Given the description of an element on the screen output the (x, y) to click on. 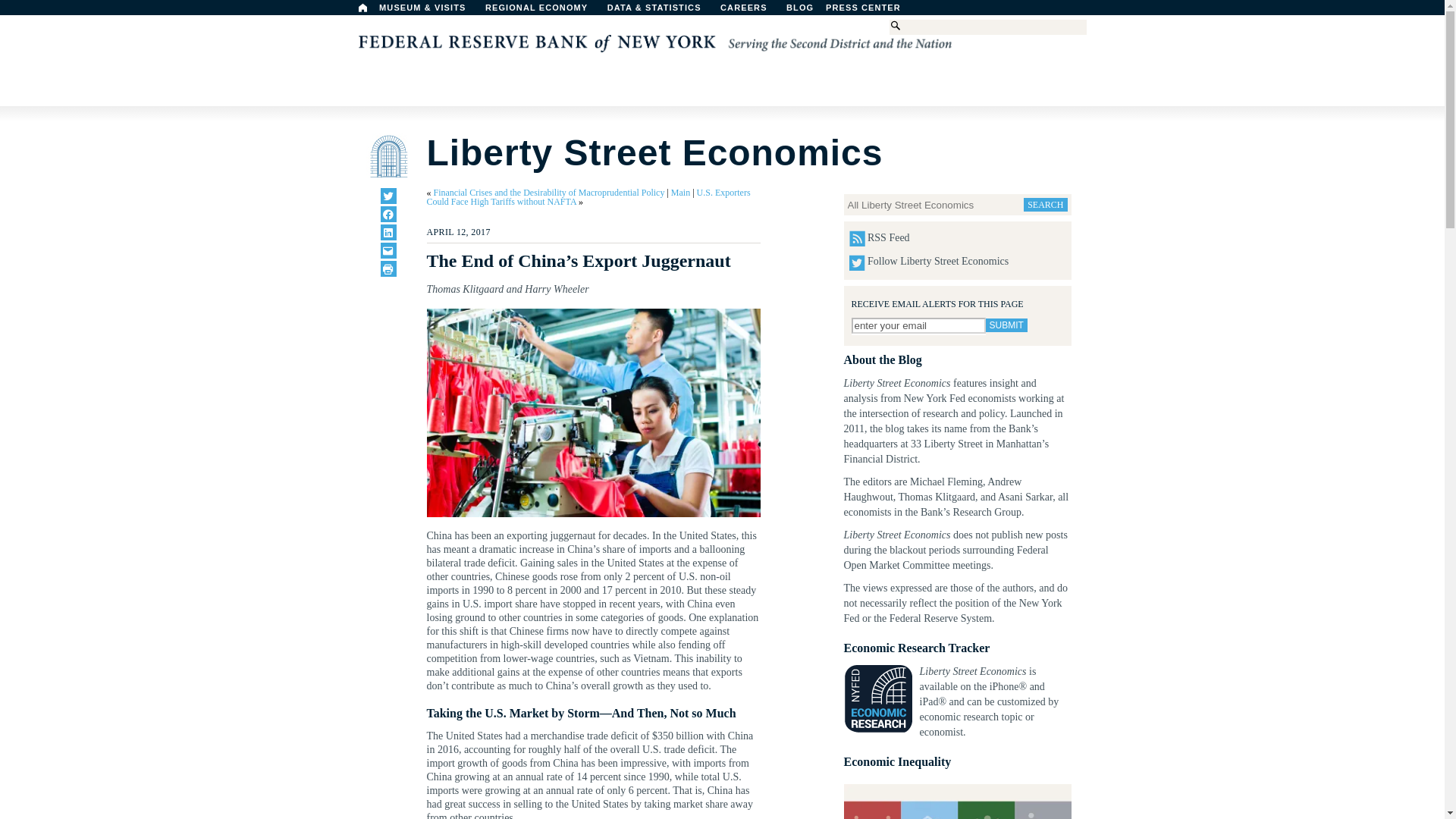
REGIONAL ECONOMY (543, 11)
Click to email a link to a friend (388, 250)
Submit (1006, 325)
Click to share on Twitter (388, 195)
Home (362, 8)
enter your email (917, 325)
PRESS CENTER (870, 11)
Click to share on Facebook (388, 213)
Click to share on LinkedIn (388, 232)
CAREERS (751, 11)
